Given the description of an element on the screen output the (x, y) to click on. 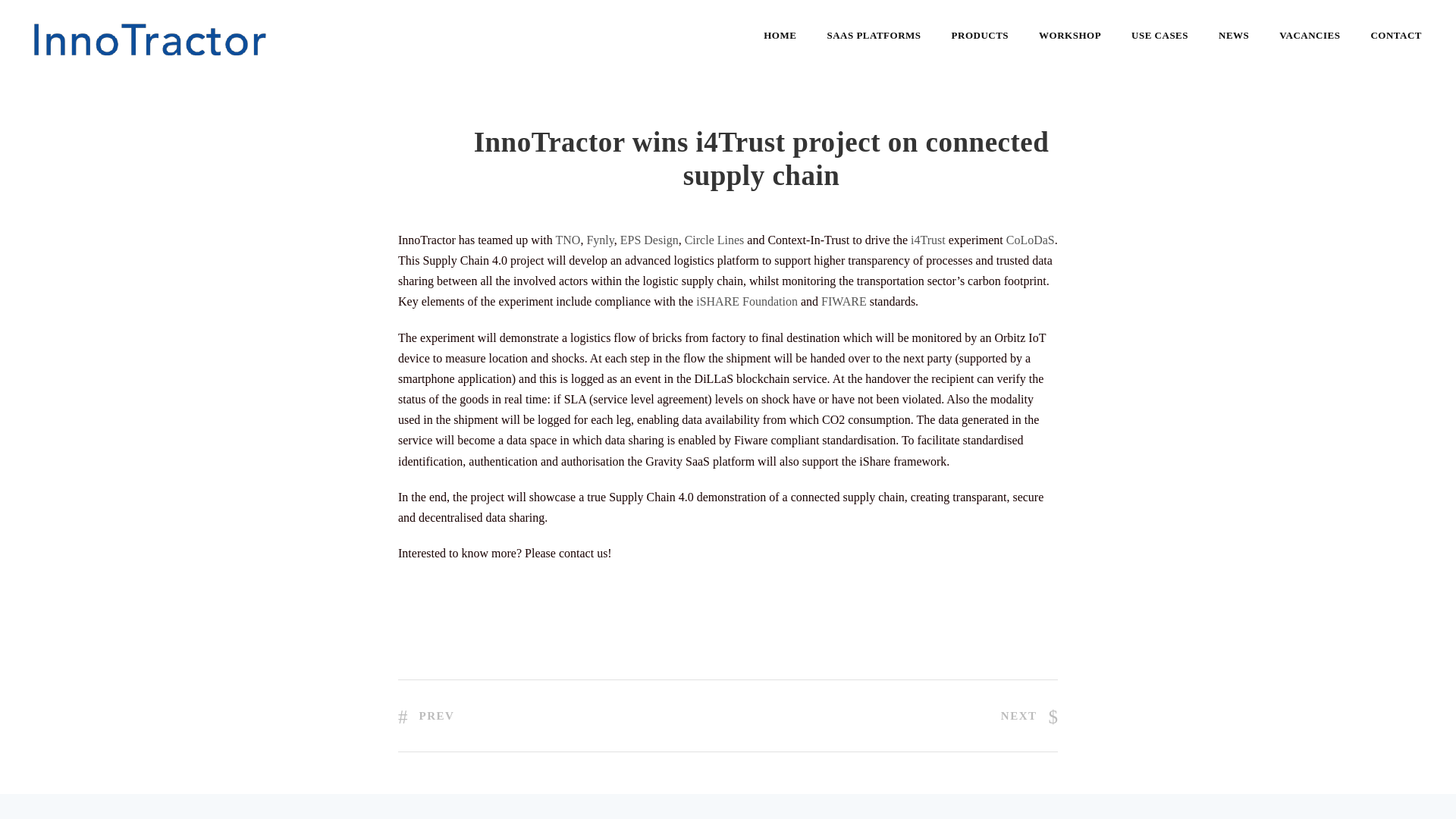
CoLoDaS (1030, 239)
SWOOTH (733, 765)
SAAS PLATFORMS (873, 48)
LinkedIn (1018, 773)
NEXT (1029, 715)
EPS Design (649, 239)
Fynly (599, 239)
VACANCIES (1309, 48)
Circle Lines (714, 239)
WORKSHOP (1069, 48)
